Given the description of an element on the screen output the (x, y) to click on. 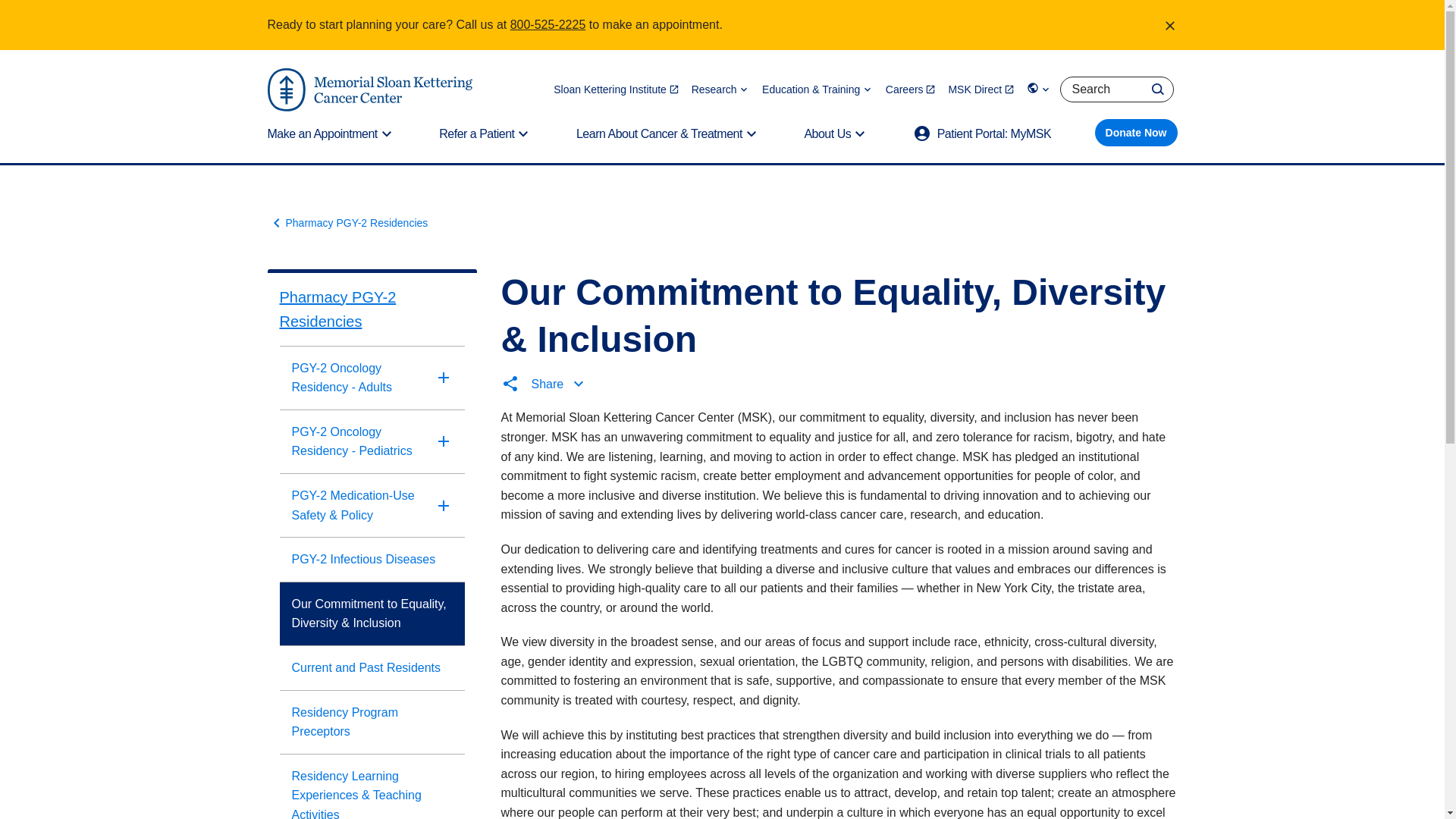
Insert a query. Press enter to send (1115, 88)
MSK Direct (980, 89)
Research (720, 89)
Donate Now (1135, 132)
800-525-2225 (548, 24)
Careers (910, 89)
Sloan Kettering Institute (615, 89)
